Given the description of an element on the screen output the (x, y) to click on. 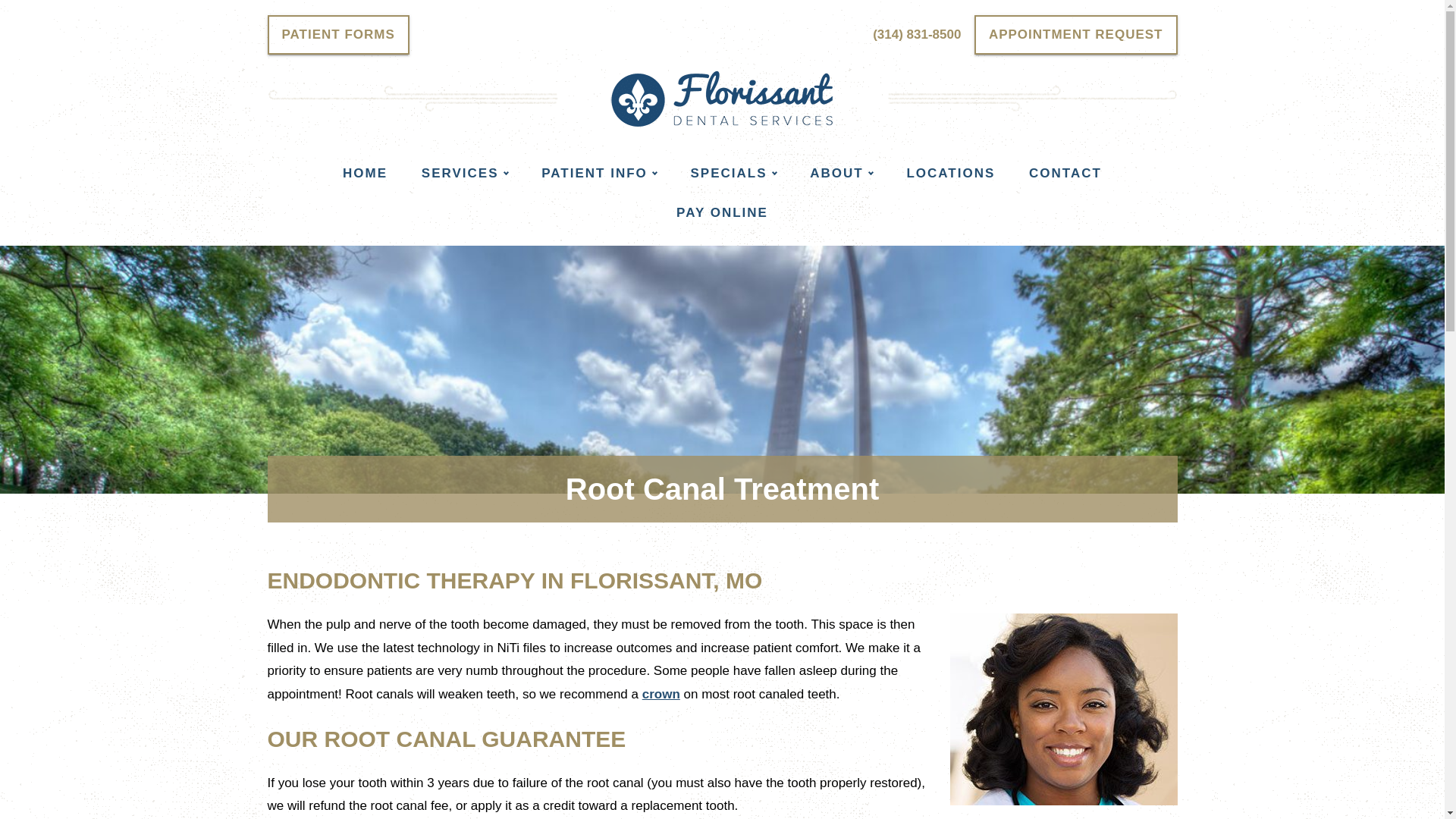
PATIENT INFO (598, 173)
SERVICES (464, 173)
ABOUT (840, 173)
SPECIALS (732, 173)
HOME (365, 173)
APPOINTMENT REQUEST (1075, 34)
PATIENT FORMS (337, 34)
